Given the description of an element on the screen output the (x, y) to click on. 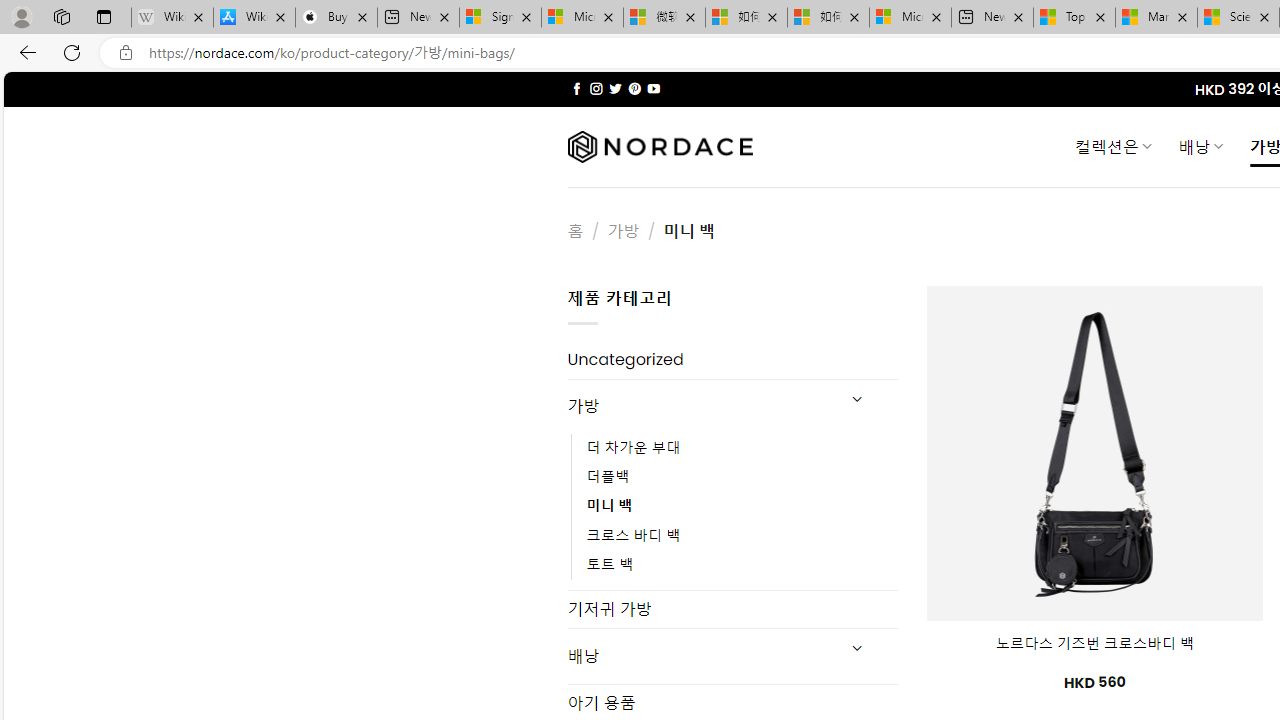
Follow on Facebook (576, 88)
Uncategorized (732, 359)
Buy iPad - Apple (336, 17)
Top Stories - MSN (1074, 17)
